Given the description of an element on the screen output the (x, y) to click on. 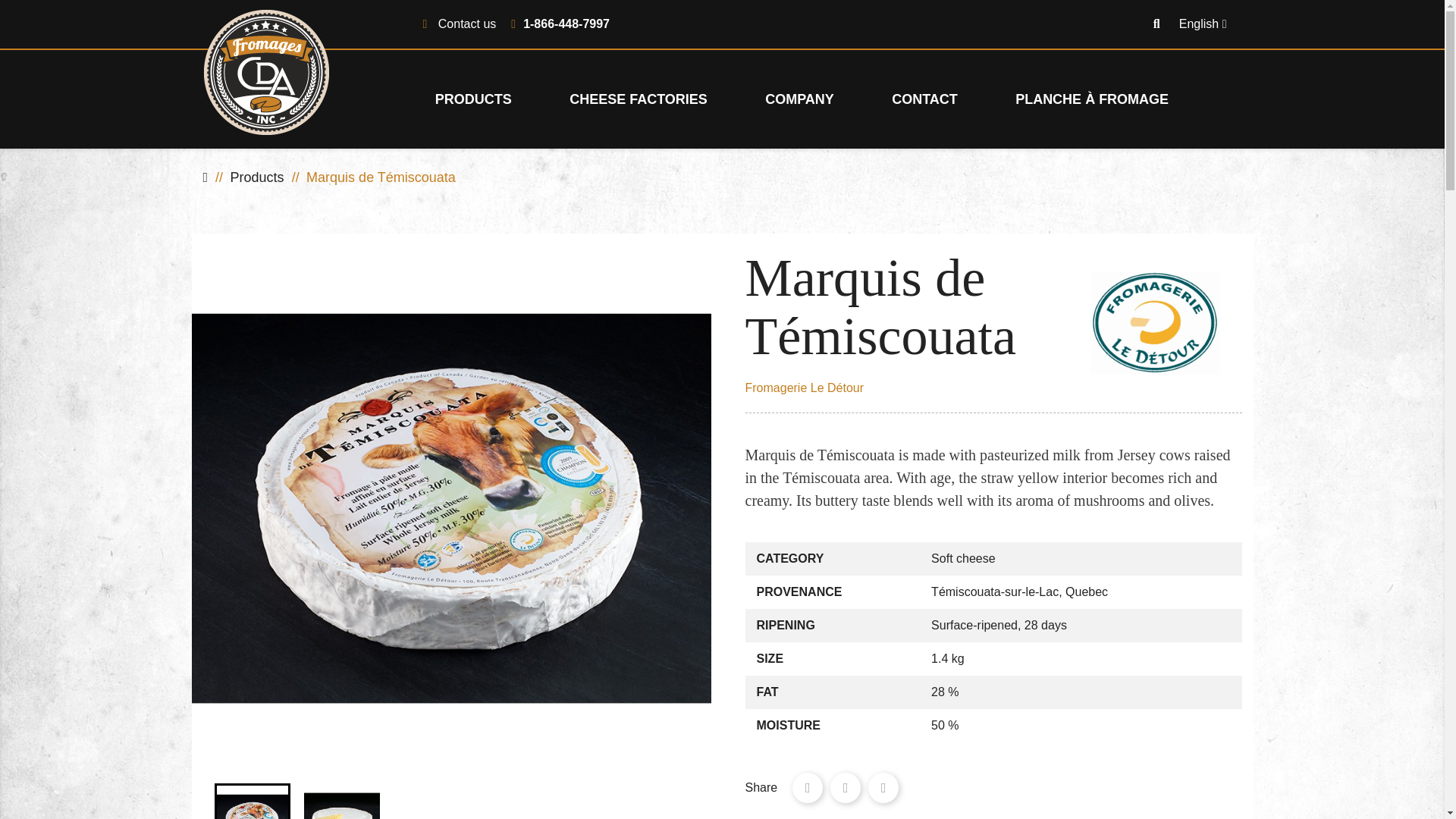
CHEESE FACTORIES (638, 99)
CONTACT (924, 99)
English (1203, 24)
Contact us (467, 23)
PRODUCTS (473, 99)
1-866-448-7997 (566, 23)
COMPANY (798, 99)
